Given the description of an element on the screen output the (x, y) to click on. 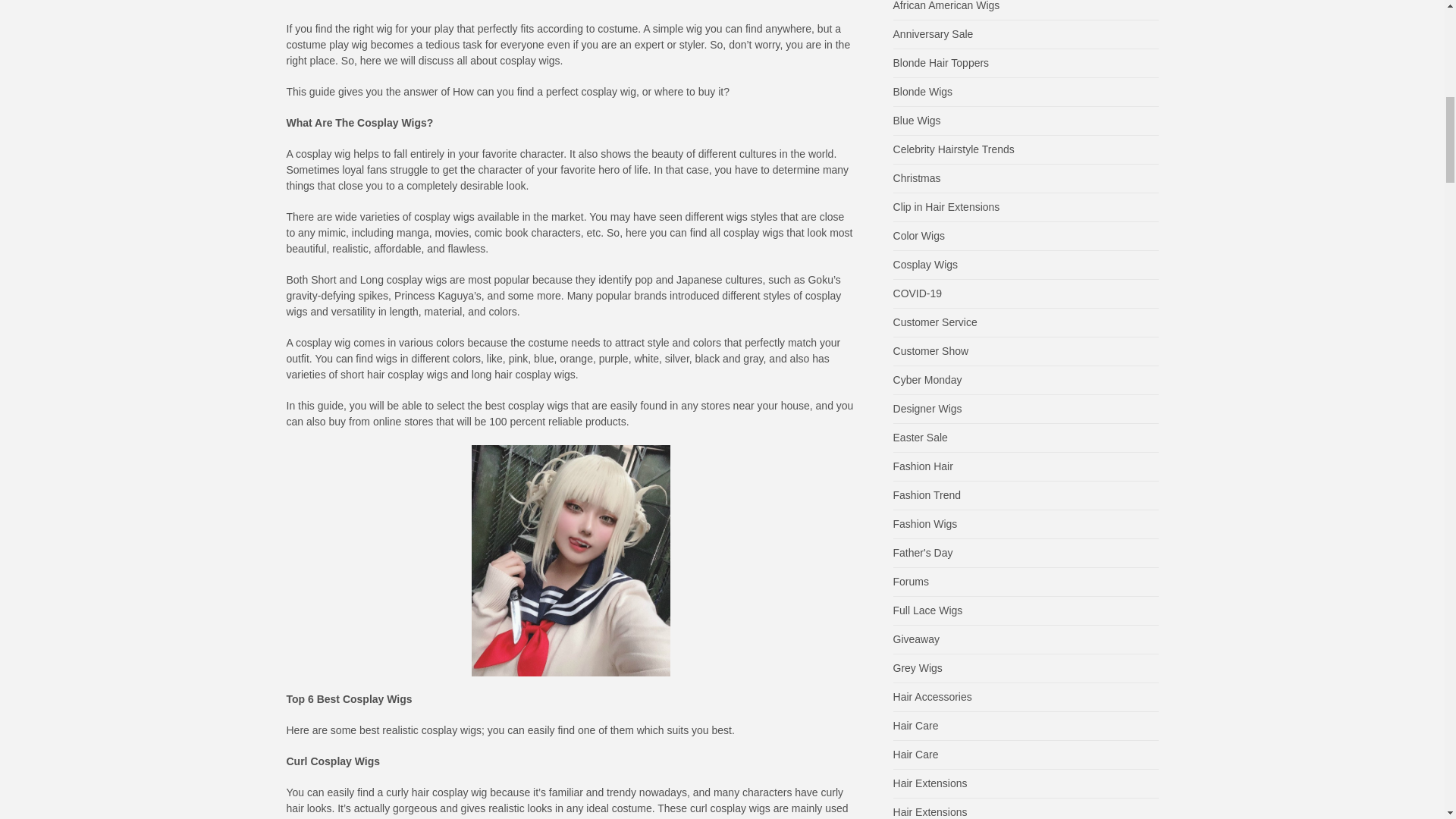
Blonde Wigs (923, 91)
Customer Service (934, 322)
Clip in Hair Extensions (946, 206)
Cyber Monday (927, 379)
Cosplay Wigs (925, 264)
Blue Wigs (916, 120)
Christmas (916, 177)
Color Wigs (918, 235)
COVID-19 (917, 293)
Blonde Hair Toppers (941, 62)
Customer Show (931, 350)
Celebrity Hairstyle Trends (953, 149)
African American Wigs (946, 5)
Anniversary Sale (933, 33)
